Given the description of an element on the screen output the (x, y) to click on. 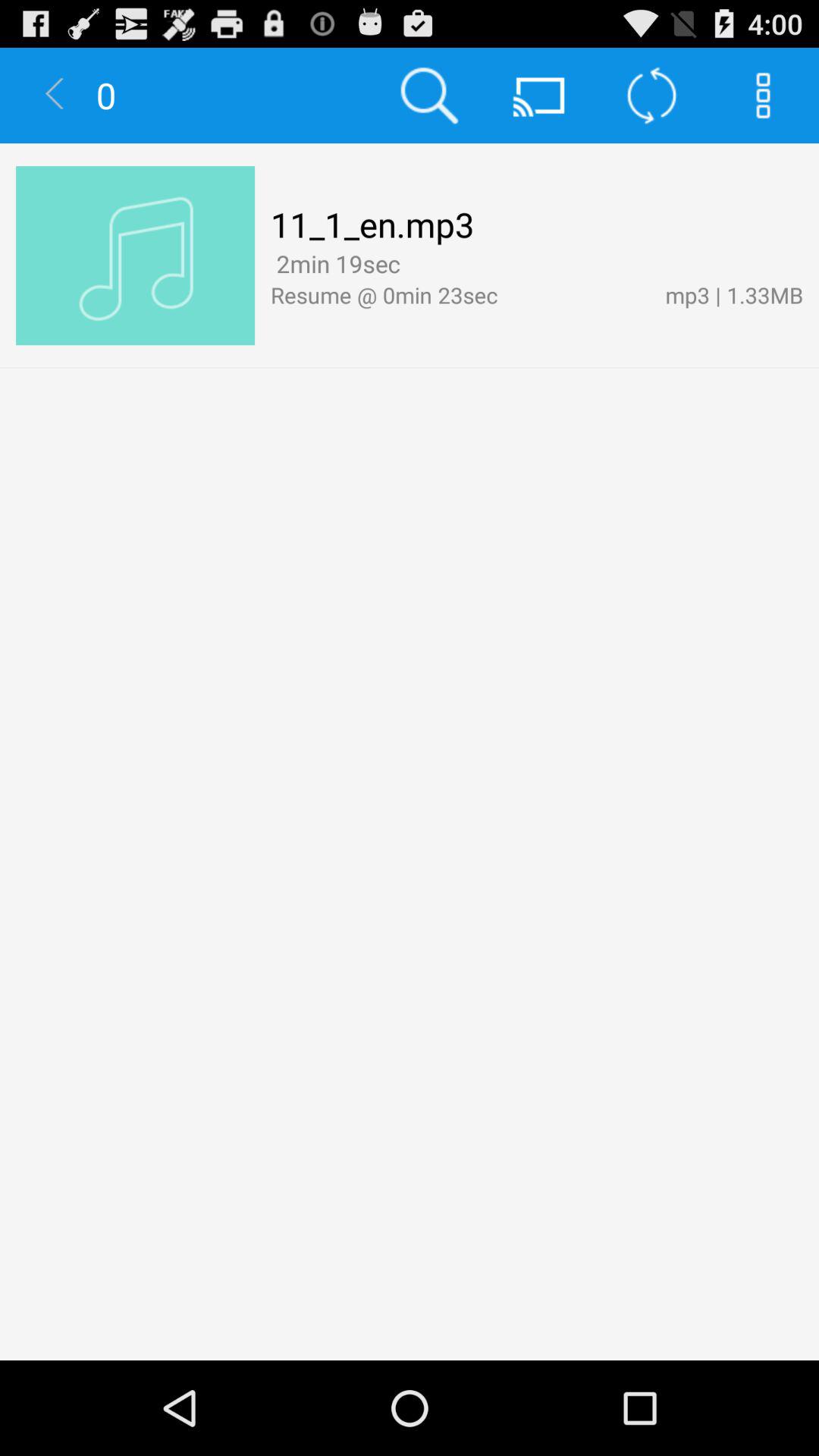
select item to the left of 11_1_en.mp3 app (134, 255)
